Given the description of an element on the screen output the (x, y) to click on. 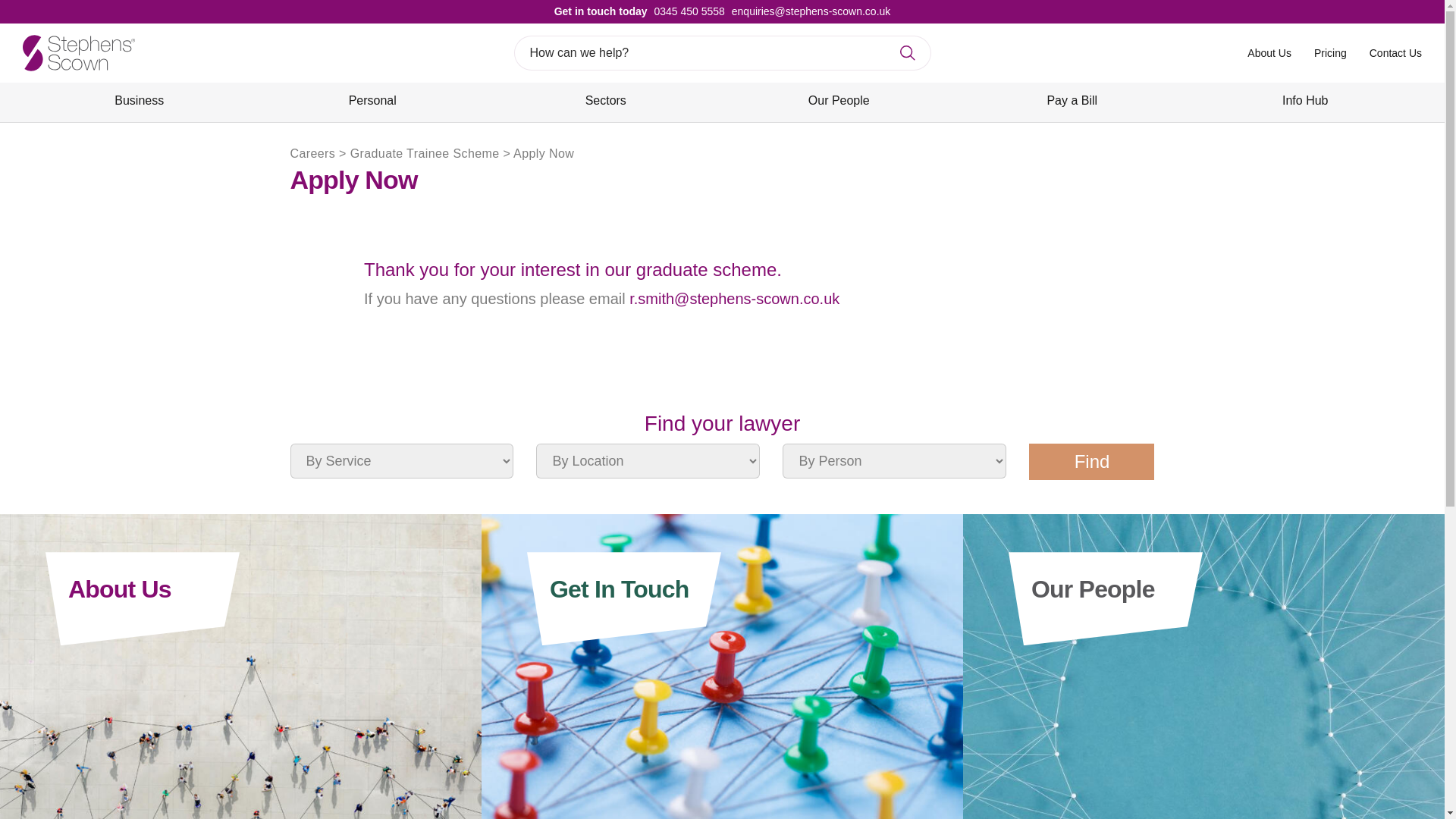
Contact Us (1396, 52)
0345 450 5558 (686, 10)
Go to Careers. (311, 153)
About Us (1269, 52)
Pricing (1330, 52)
Go to Graduate Trainee Scheme. (424, 153)
